Given the description of an element on the screen output the (x, y) to click on. 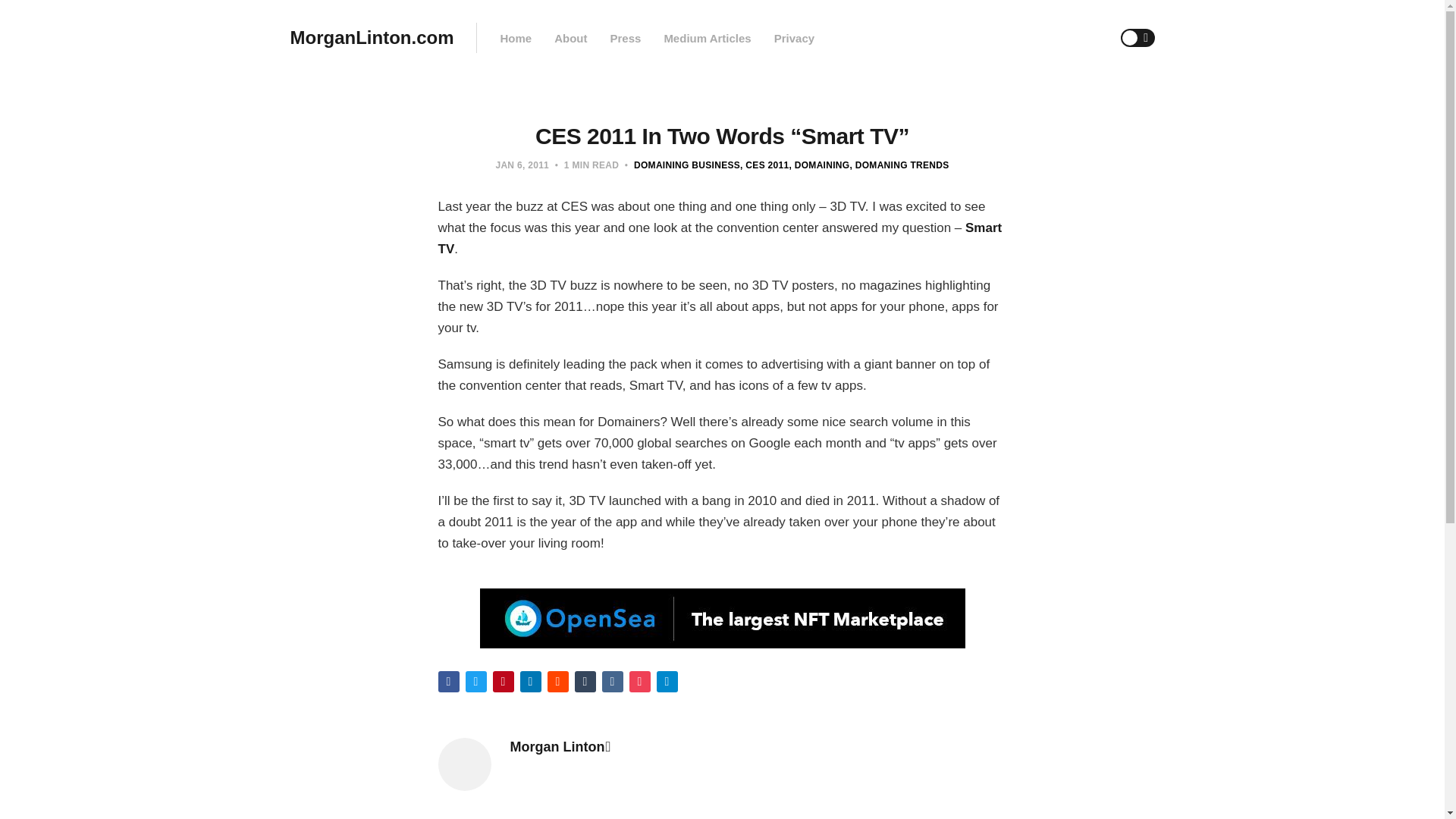
ces 2011 (764, 164)
CES 2011 (764, 164)
Press (625, 38)
MorganLinton.com (370, 37)
Domaining (818, 164)
domaning trends (898, 164)
Medium Articles (707, 38)
About (570, 38)
Domaining Business (686, 164)
Home (515, 38)
DOMAINING (818, 164)
Privacy (793, 38)
DOMAINING BUSINESS (686, 164)
DOMANING TRENDS (898, 164)
